Given the description of an element on the screen output the (x, y) to click on. 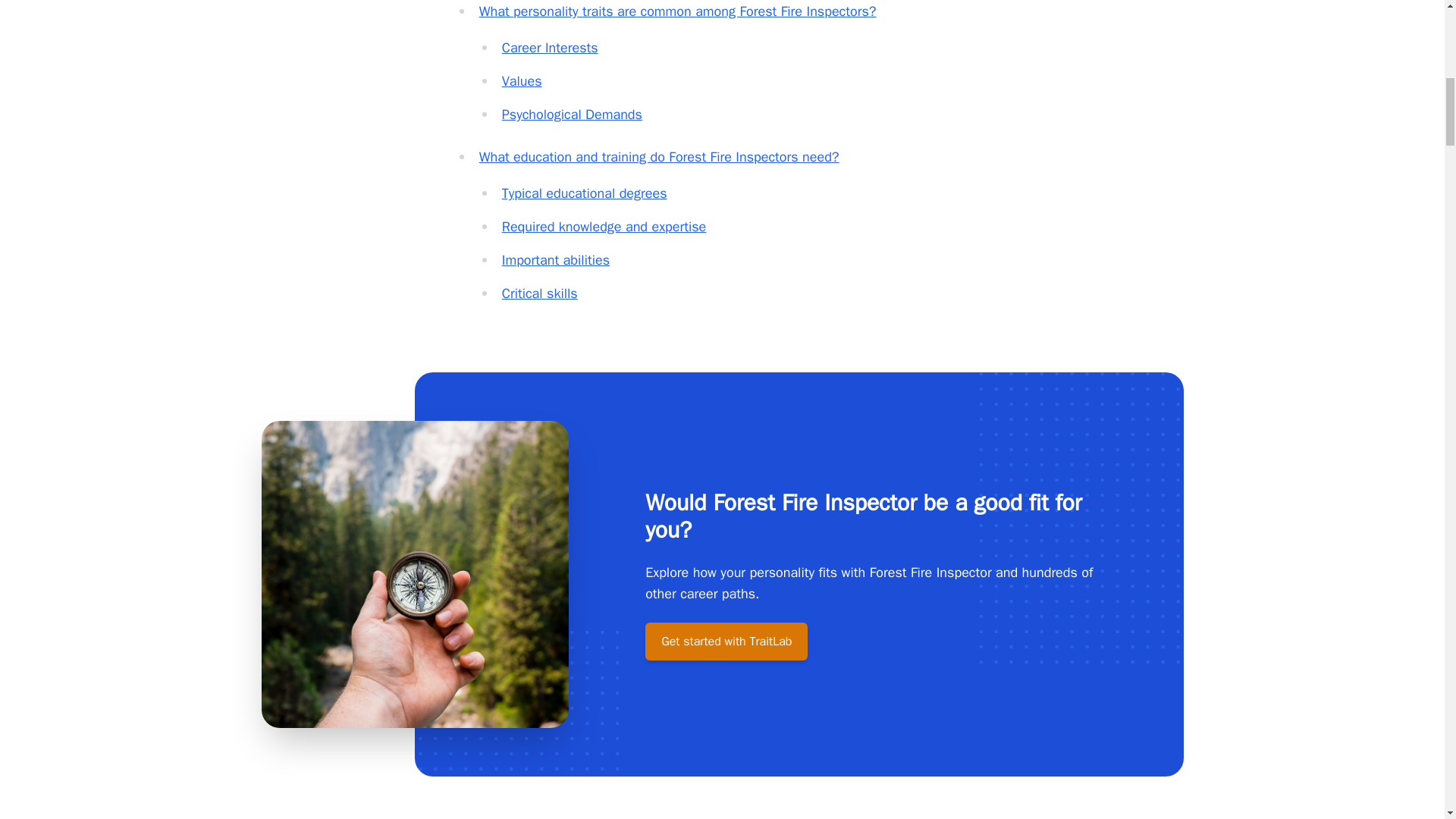
Typical educational degrees (584, 193)
Important abilities (556, 259)
Psychological Demands (572, 114)
Values (521, 80)
Required knowledge and expertise (604, 226)
Critical skills (540, 293)
Get started with TraitLab (726, 641)
Career Interests (550, 47)
What education and training do Forest Fire Inspectors need? (659, 156)
